Given the description of an element on the screen output the (x, y) to click on. 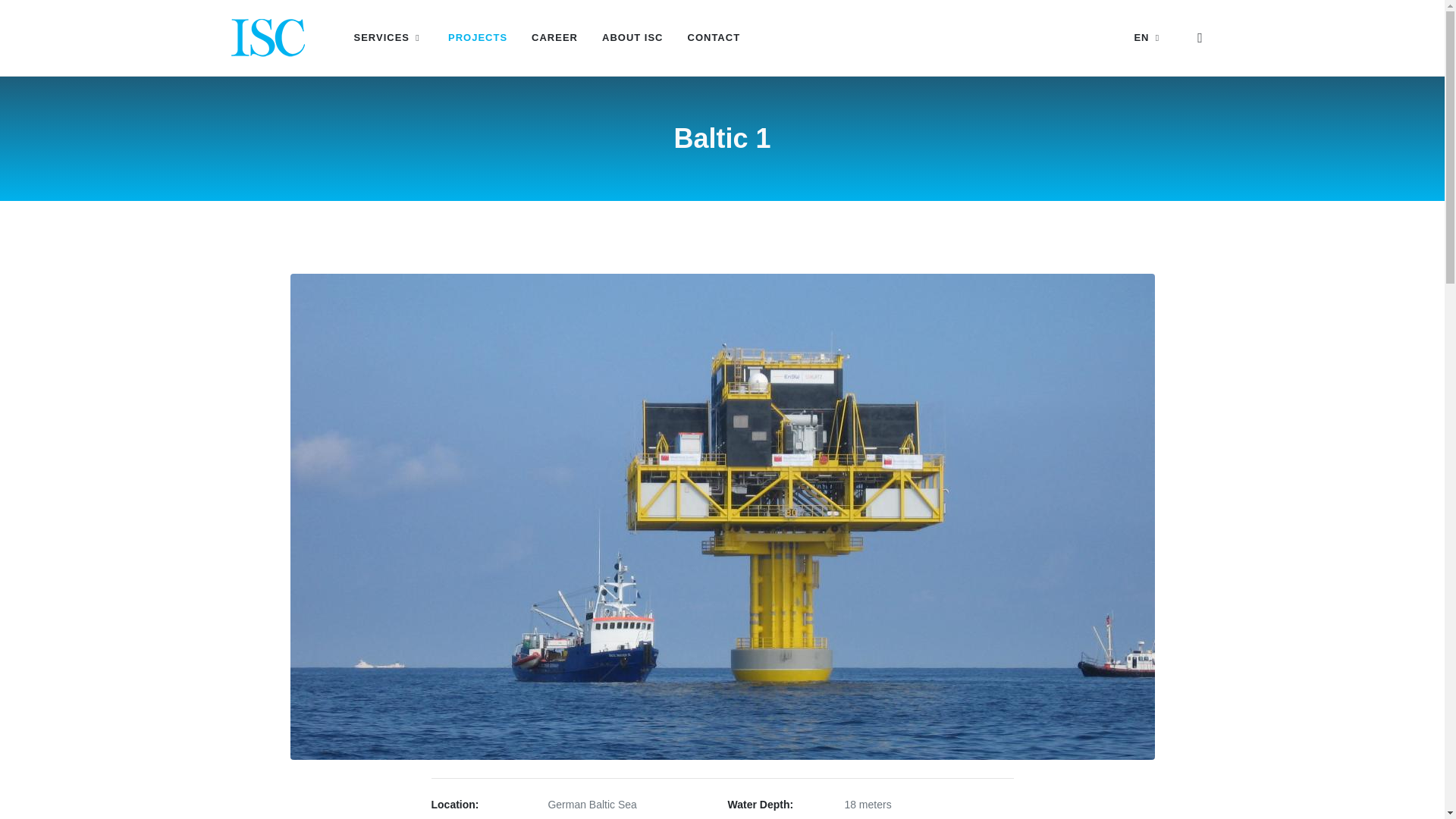
ABOUT ISC (633, 38)
SERVICES (388, 38)
CONTACT (714, 38)
PROJECTS (477, 38)
CAREER (554, 38)
